Given the description of an element on the screen output the (x, y) to click on. 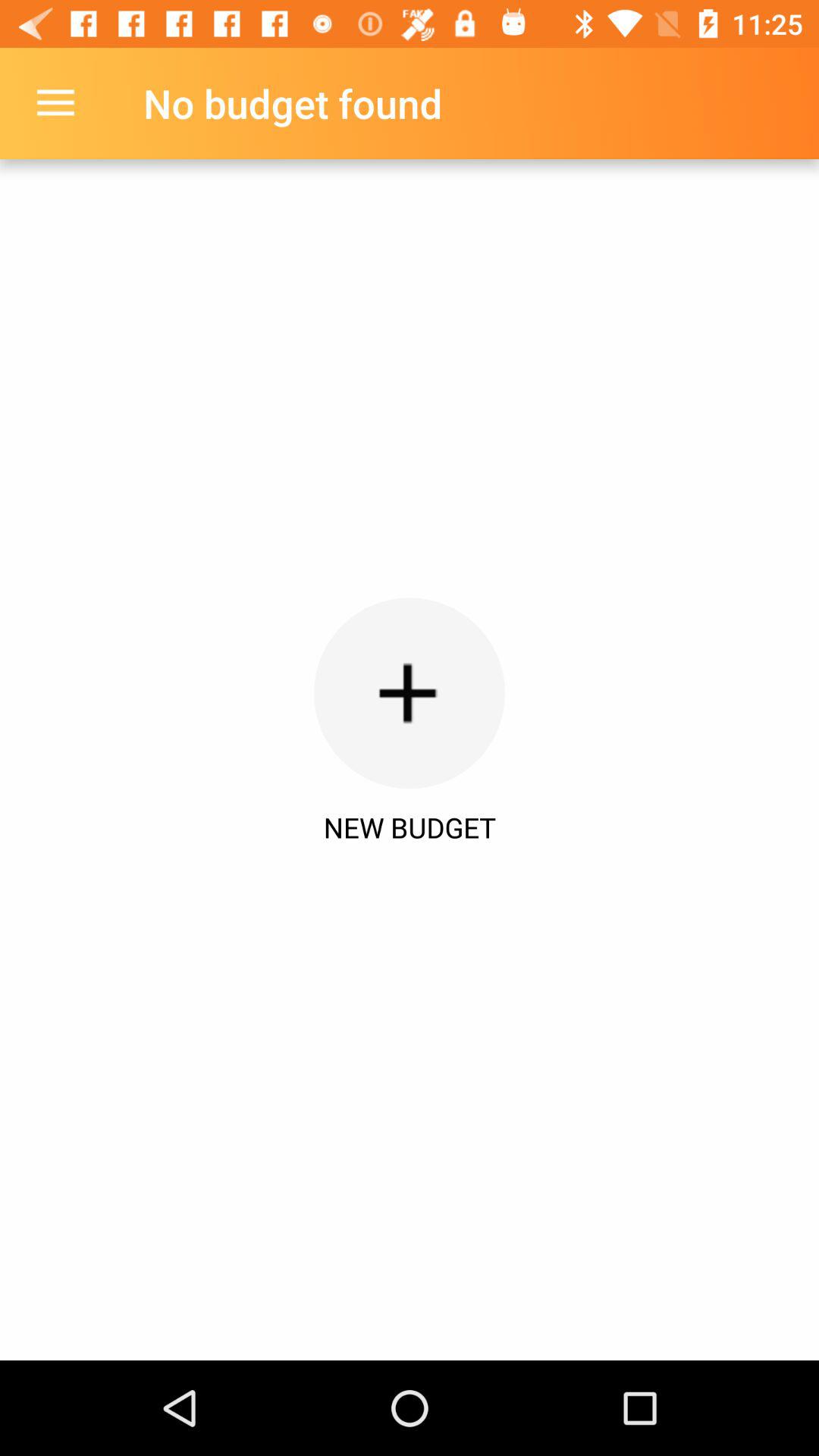
add a budget (409, 692)
